Given the description of an element on the screen output the (x, y) to click on. 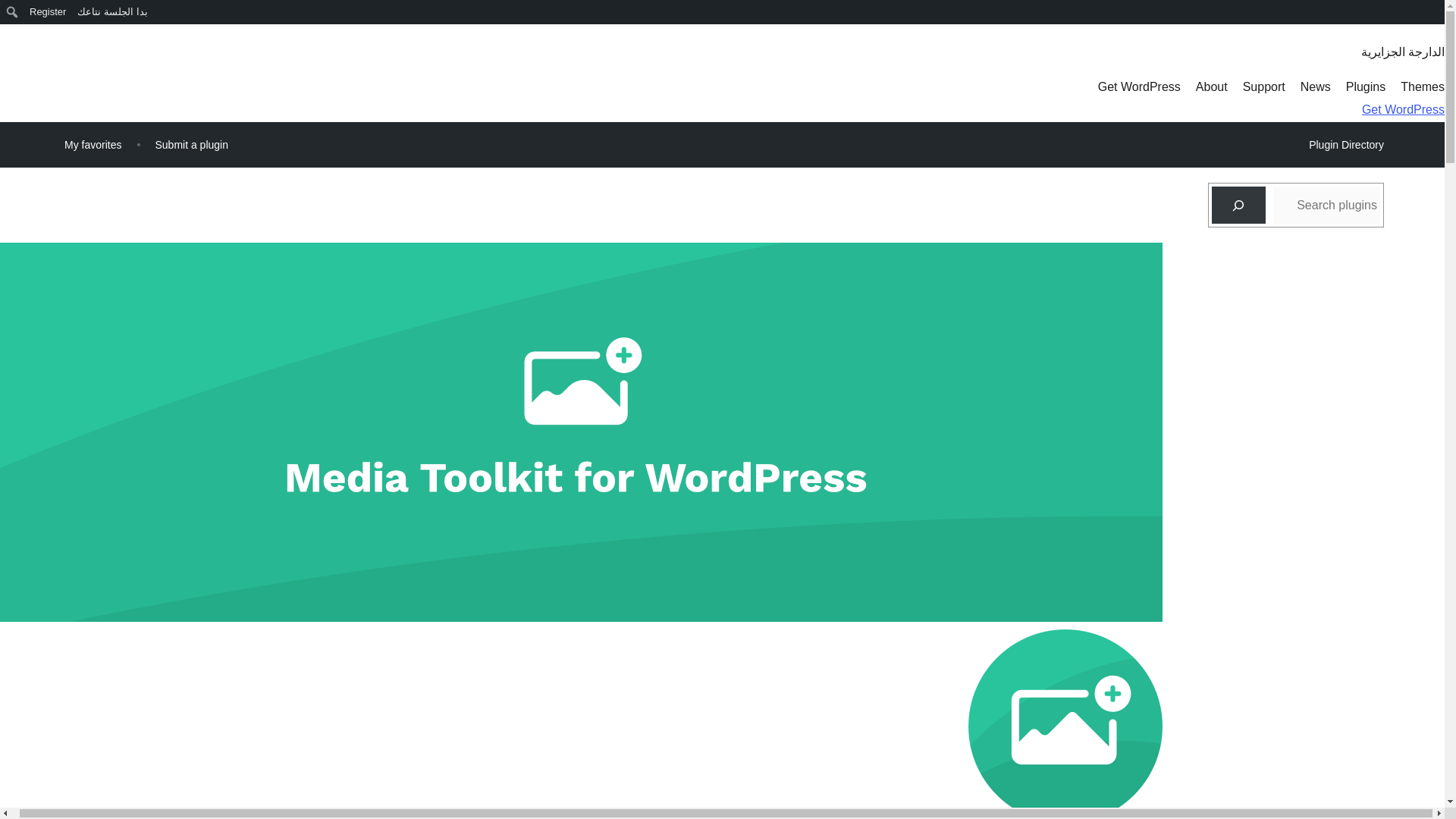
News (1315, 87)
Submit a plugin (191, 144)
My favorites (93, 144)
Themes (1422, 87)
Get WordPress (1402, 109)
Get WordPress (1138, 87)
Plugins (1365, 87)
About (1211, 87)
Support (1264, 87)
Register (47, 12)
